Given the description of an element on the screen output the (x, y) to click on. 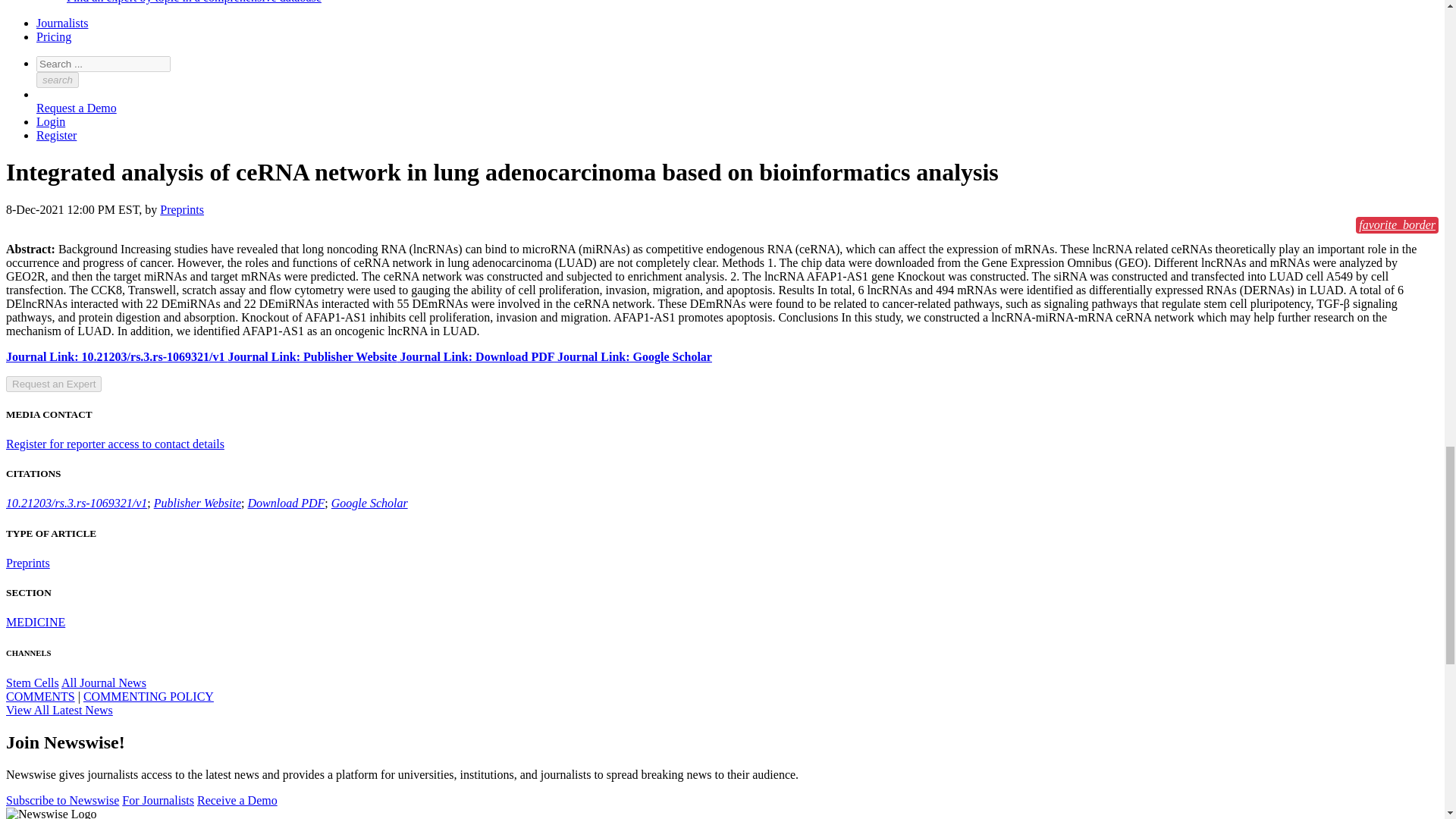
Show all articles in this channel (104, 682)
Leave a comment... (40, 696)
Show all articles in this channel (32, 682)
Preprints (27, 562)
Show all articles in this channel (35, 621)
